Given the description of an element on the screen output the (x, y) to click on. 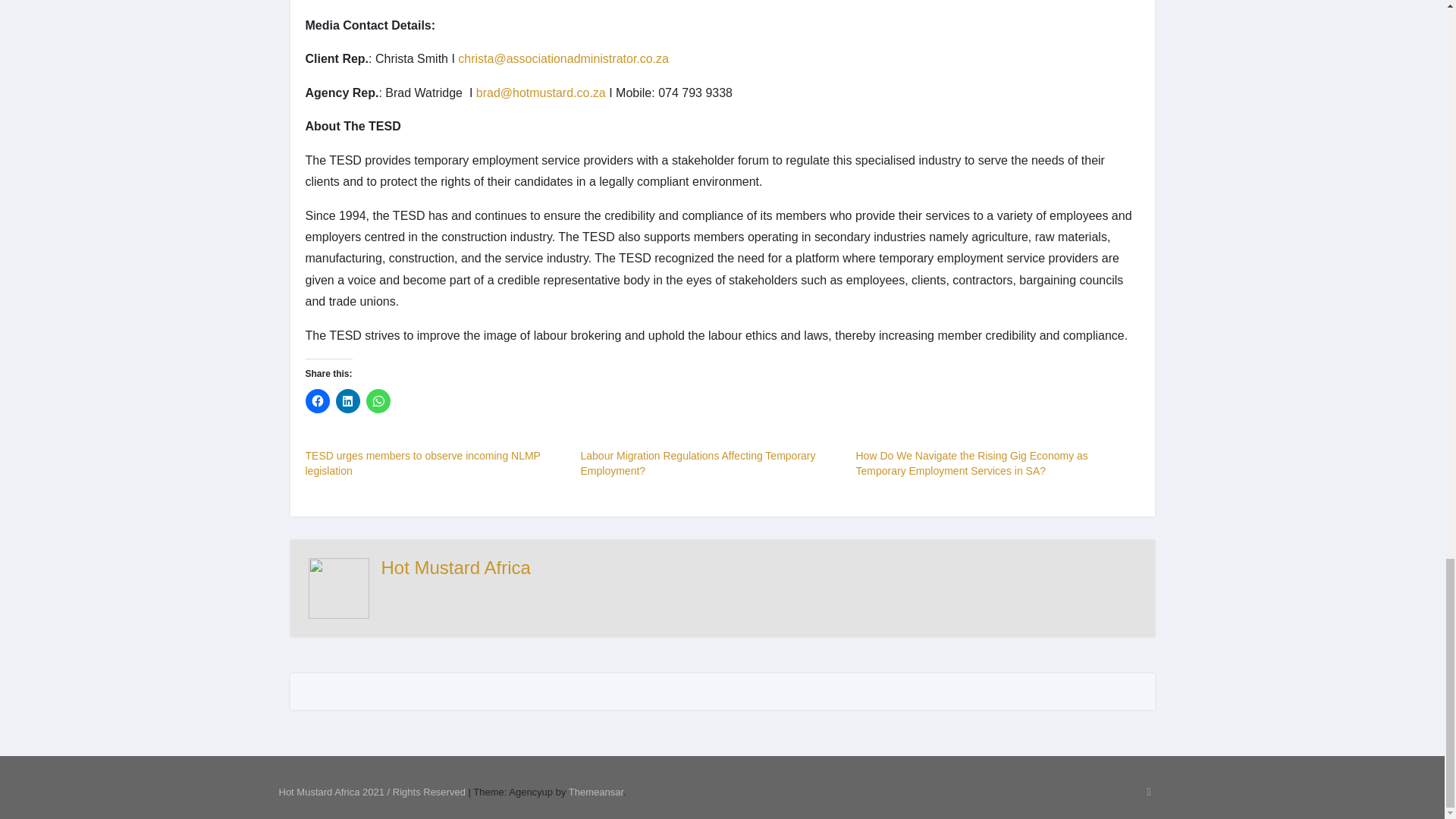
Hot Mustard Africa (454, 567)
Labour Migration Regulations Affecting Temporary Employment? (697, 462)
Themeansar (596, 791)
Click to share on WhatsApp (377, 401)
TESD urges members to observe incoming NLMP legislation (422, 462)
Click to share on LinkedIn (346, 401)
Labour Migration Regulations Affecting Temporary Employment? (697, 462)
TESD urges members to observe incoming NLMP legislation (422, 462)
Click to share on Facebook (316, 401)
